Given the description of an element on the screen output the (x, y) to click on. 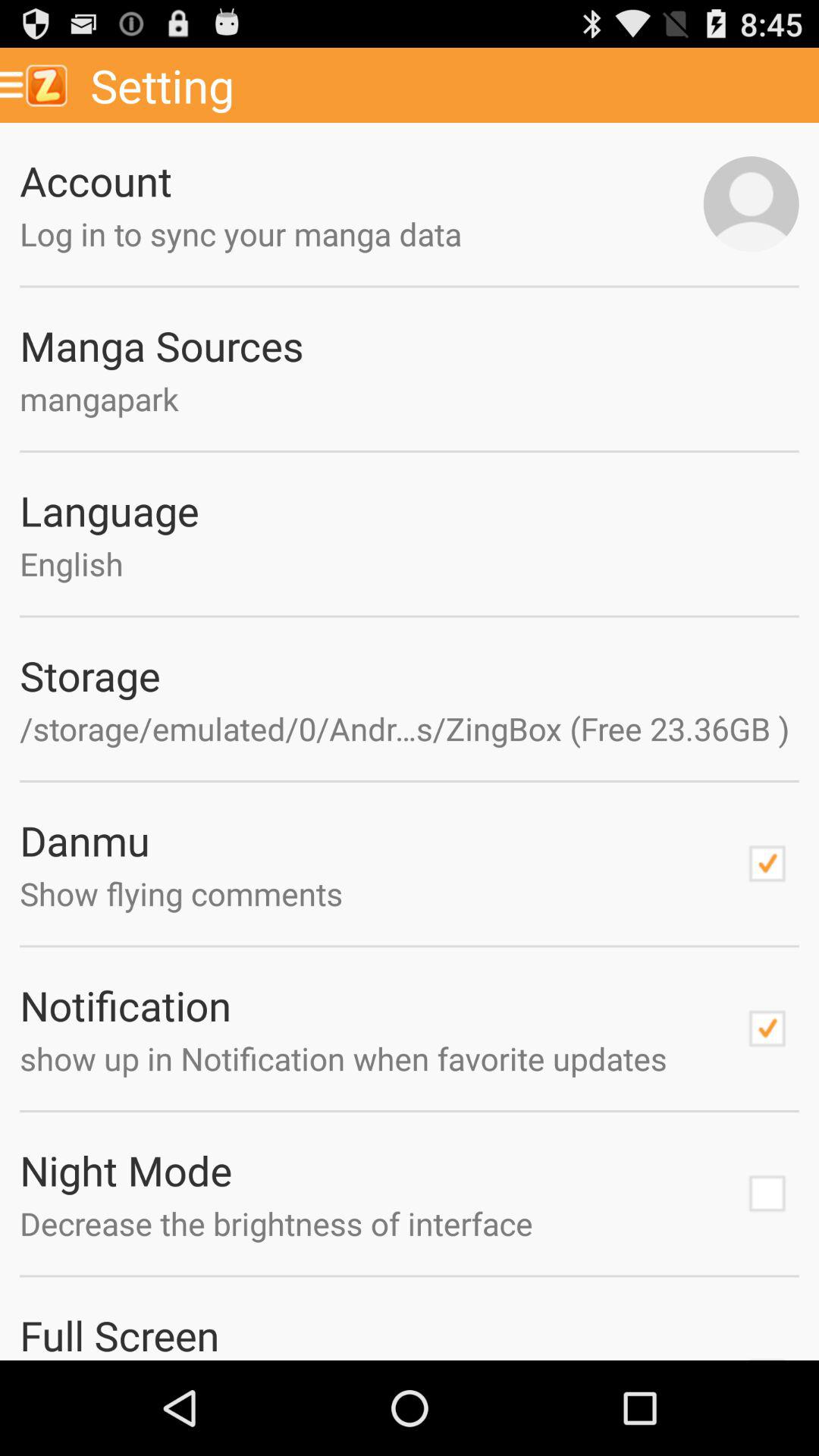
account details (751, 203)
